Given the description of an element on the screen output the (x, y) to click on. 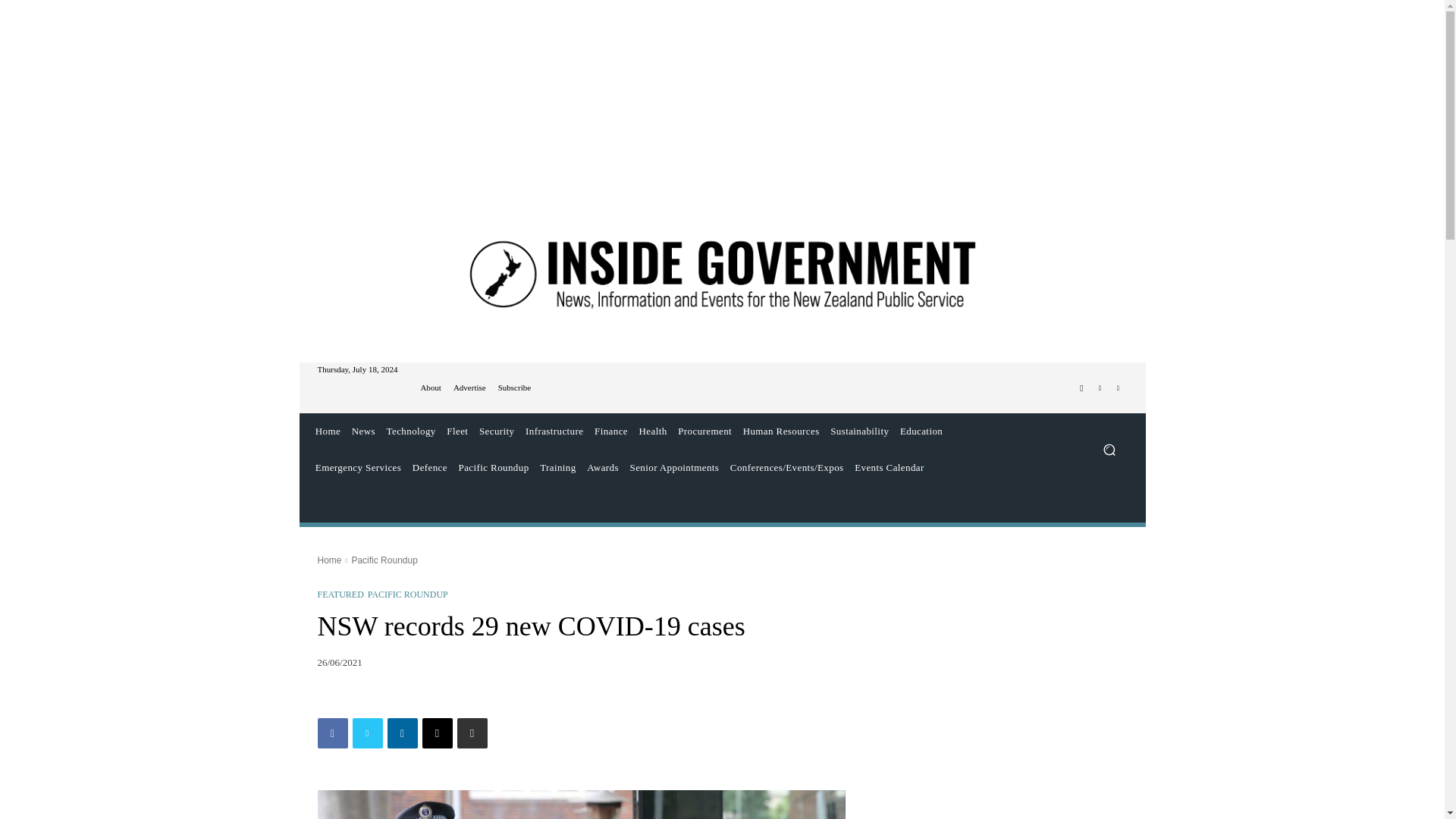
View all posts in Pacific Roundup (383, 560)
Sustainability (860, 431)
Finance (611, 431)
Procurement (704, 431)
Security (496, 431)
Linkedin (401, 733)
News (363, 431)
Email (436, 733)
Twitter (1099, 388)
Home (327, 431)
Facebook (332, 733)
Health (652, 431)
About (430, 388)
Facebook (1080, 388)
